Given the description of an element on the screen output the (x, y) to click on. 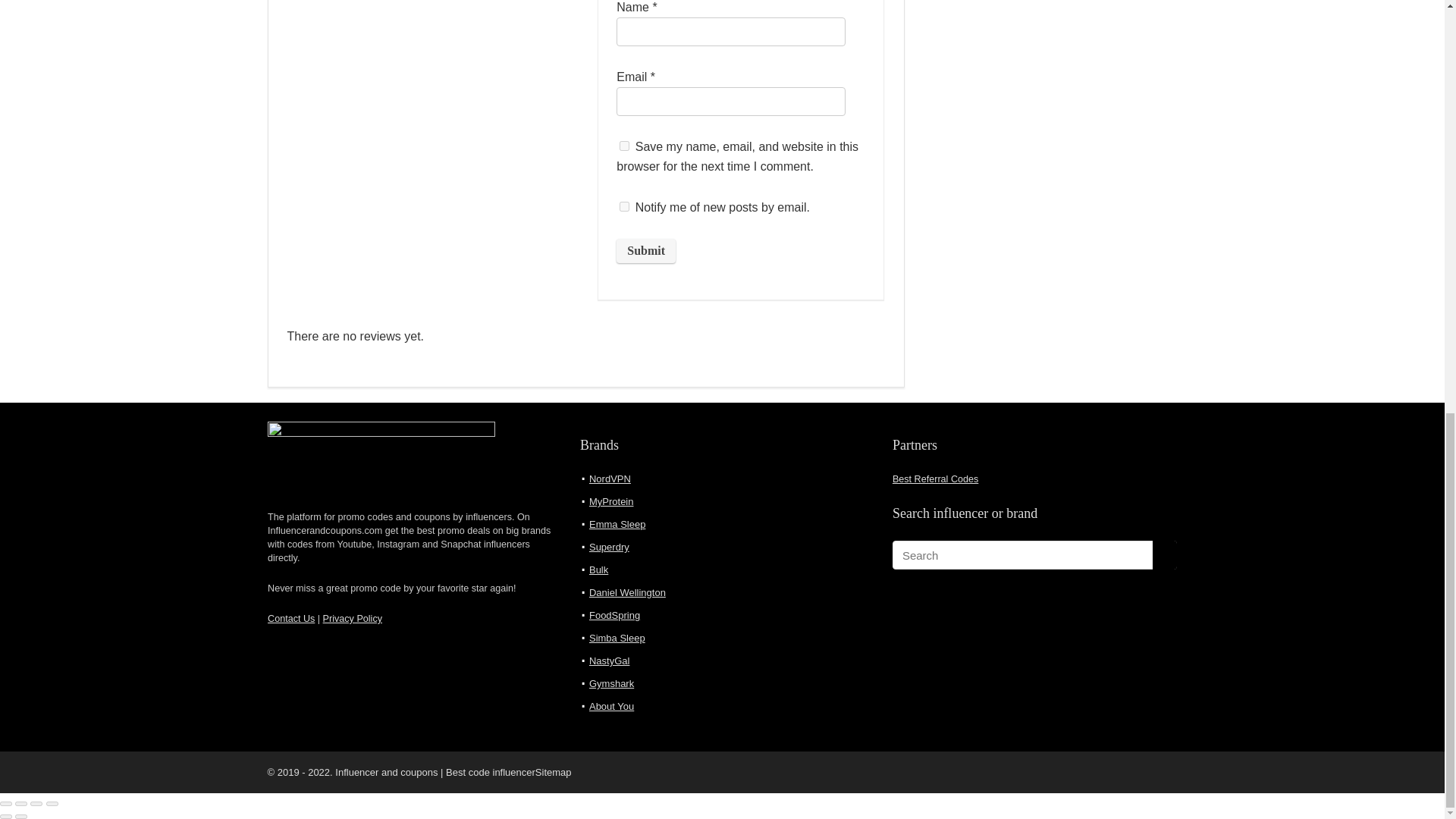
Gymshark (611, 683)
Daniel Wellington (627, 592)
yes (624, 145)
MyProtein (611, 501)
NordVPN (609, 478)
Submit (645, 250)
Sitemap (553, 772)
Simba Sleep (617, 637)
NastyGal (608, 660)
Best Referral Codes (935, 479)
